Given the description of an element on the screen output the (x, y) to click on. 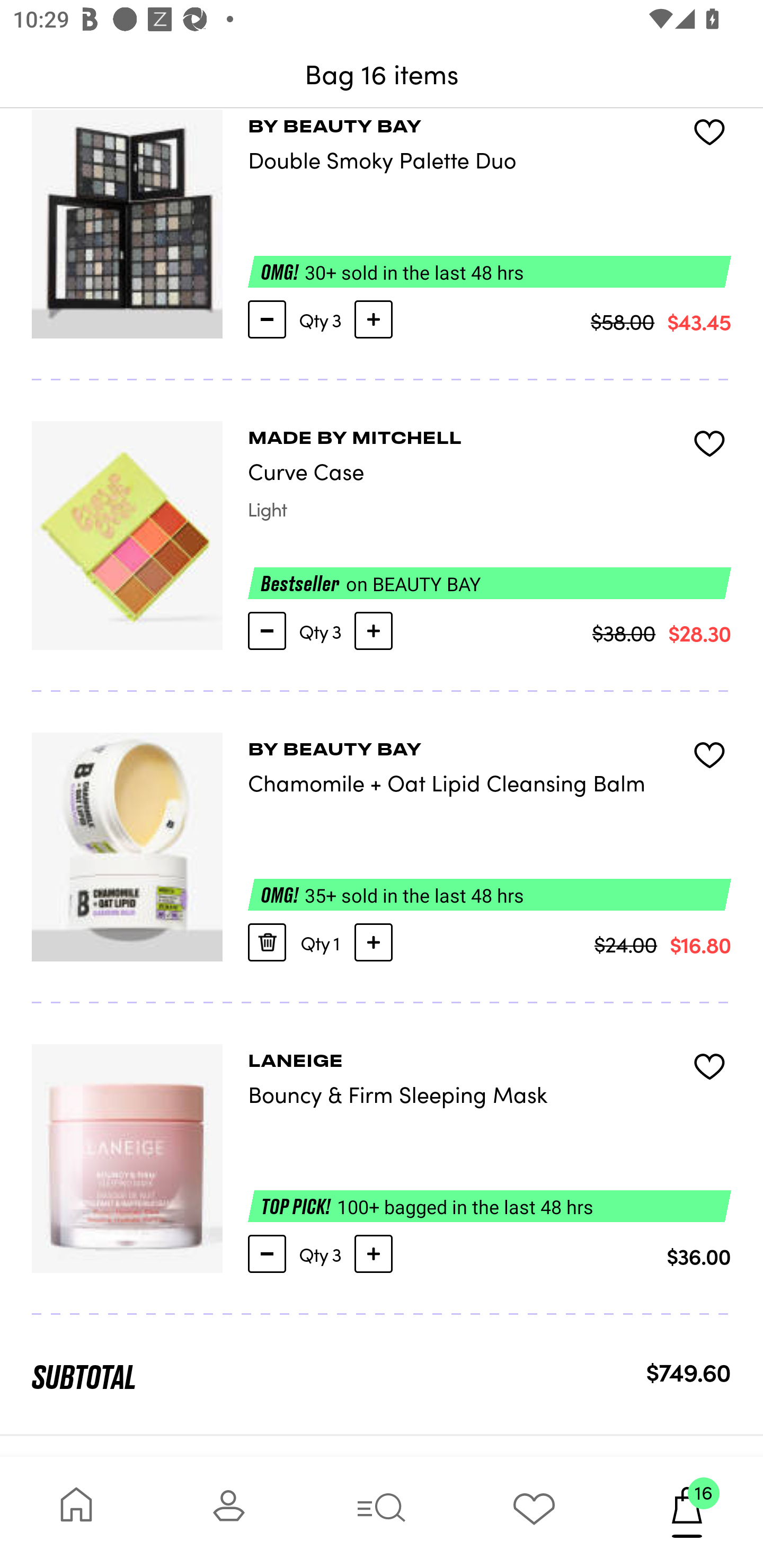
16 (686, 1512)
